Given the description of an element on the screen output the (x, y) to click on. 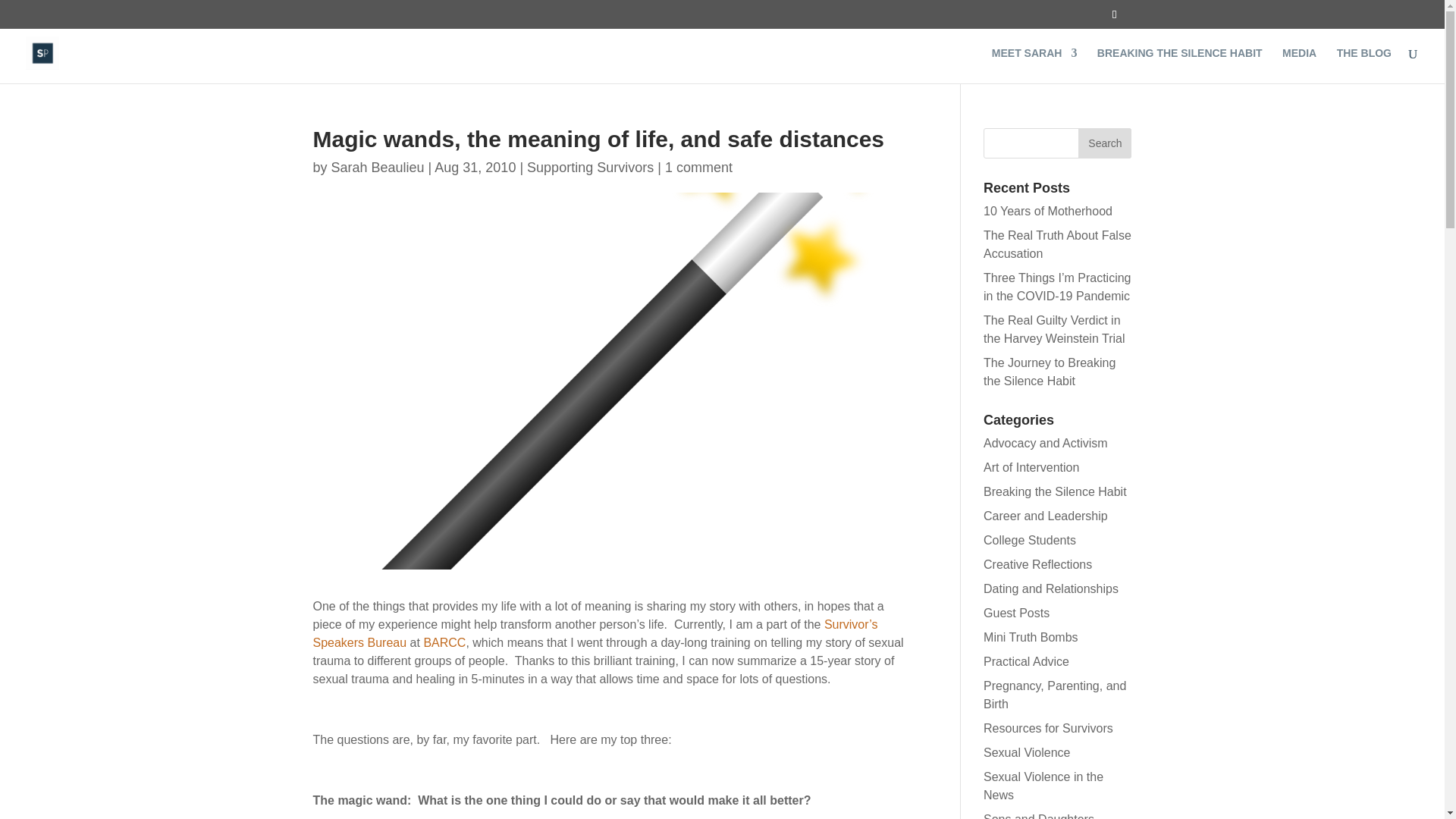
College Students (1029, 540)
Guest Posts (1016, 612)
Posts by Sarah Beaulieu (378, 167)
Career and Leadership (1046, 515)
Practical Advice (1026, 661)
THE BLOG (1363, 65)
Search (1104, 142)
Dating and relationships with survivors (1051, 588)
Creative Reflections (1038, 563)
MEET SARAH (1034, 65)
